Given the description of an element on the screen output the (x, y) to click on. 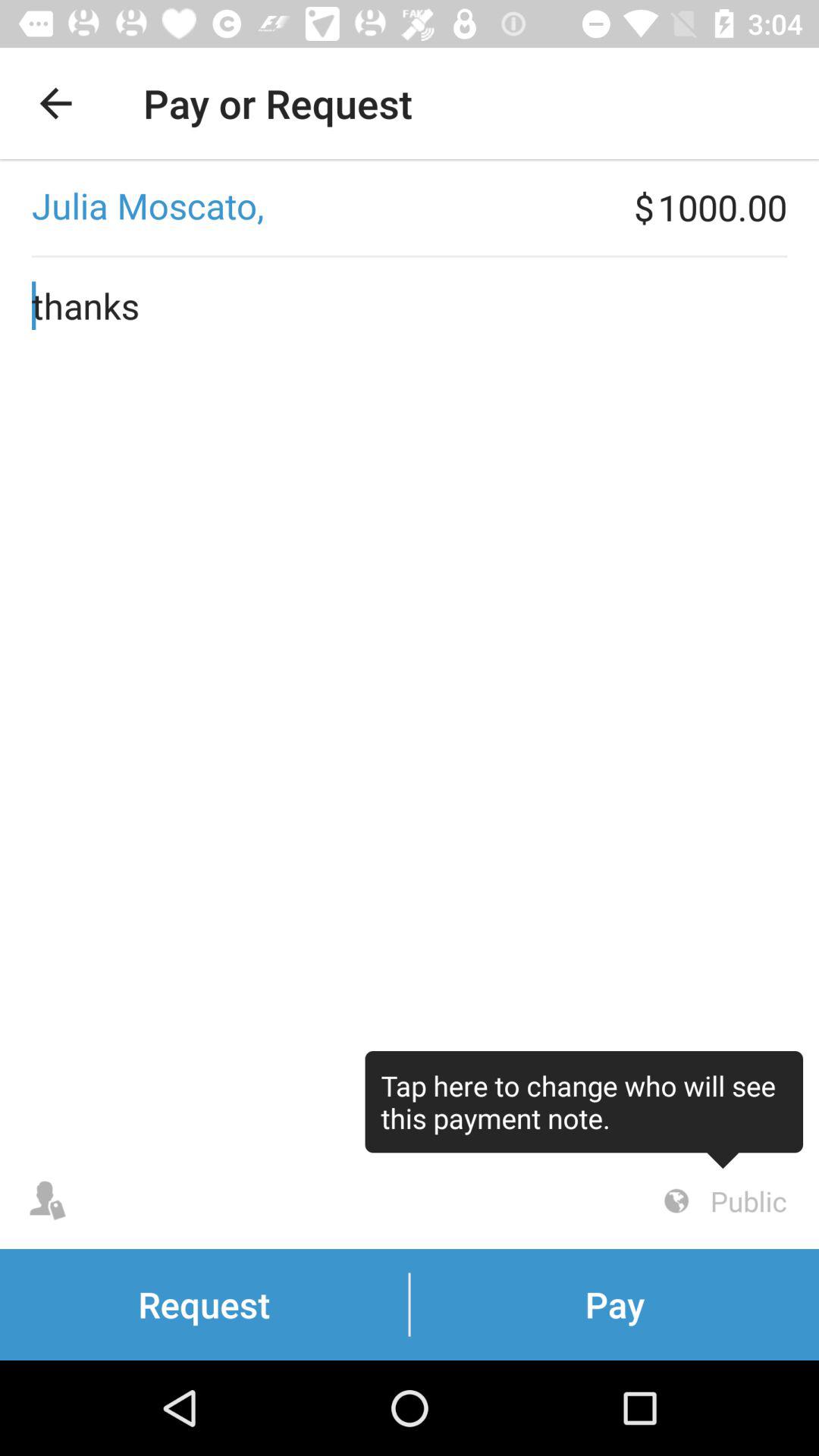
choose item next to request item (722, 1200)
